Given the description of an element on the screen output the (x, y) to click on. 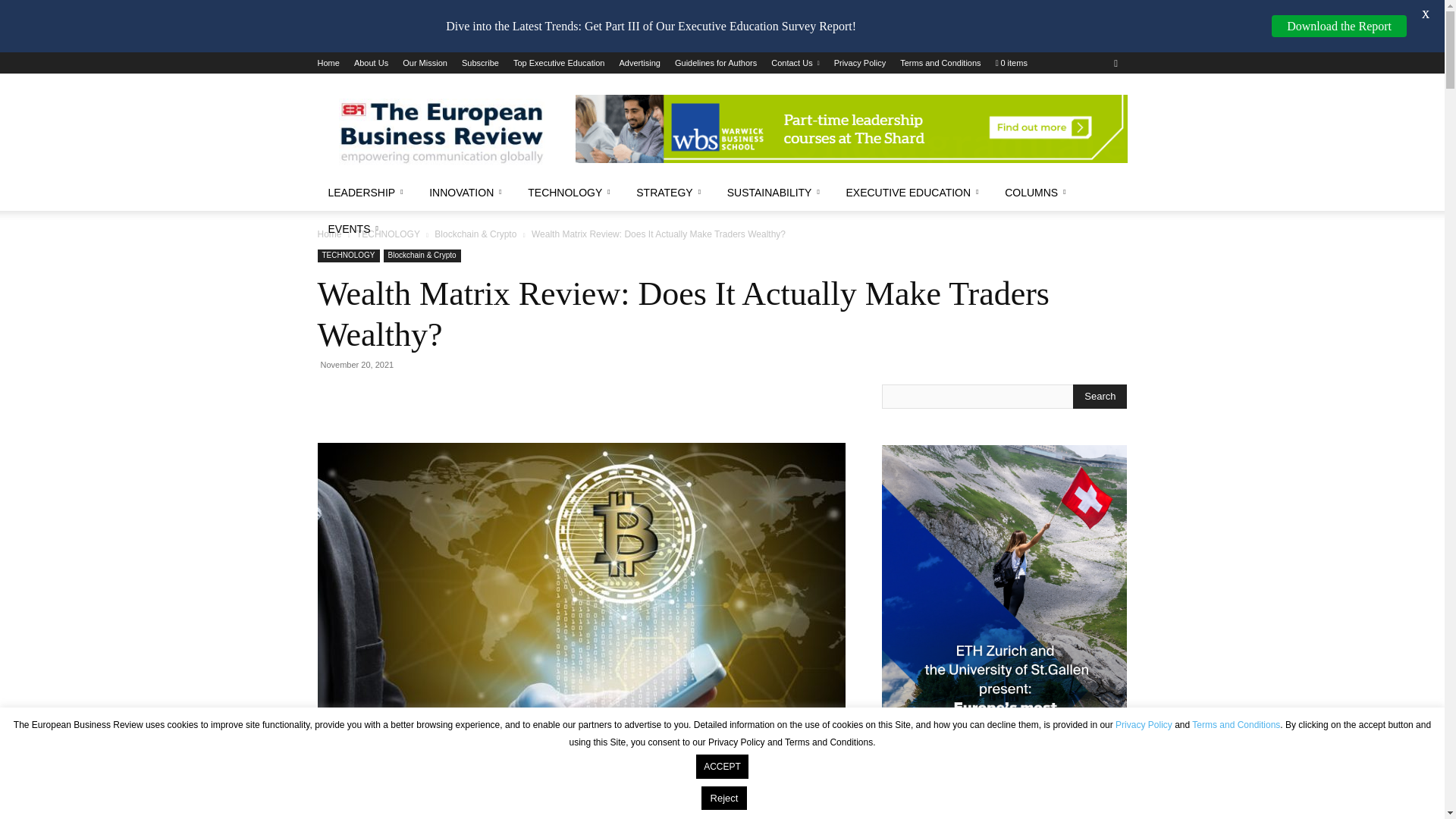
Start shopping (1011, 62)
Search (1099, 396)
View all posts in TECHNOLOGY (388, 234)
Innovation (467, 192)
advertisement (850, 128)
